Given the description of an element on the screen output the (x, y) to click on. 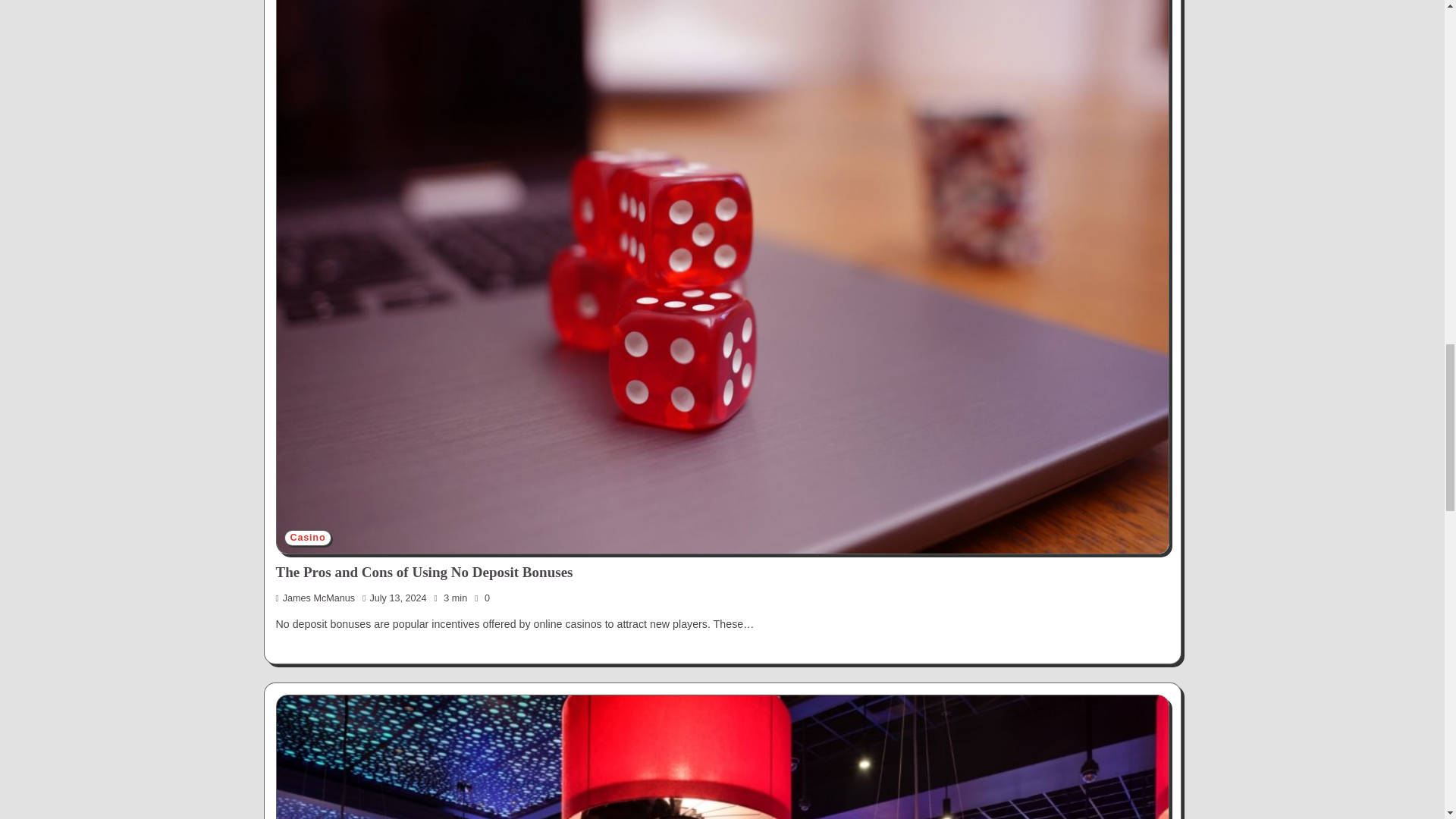
The Pros and Cons of Using No Deposit Bonuses (424, 571)
Casino (307, 537)
James McManus (315, 597)
